Given the description of an element on the screen output the (x, y) to click on. 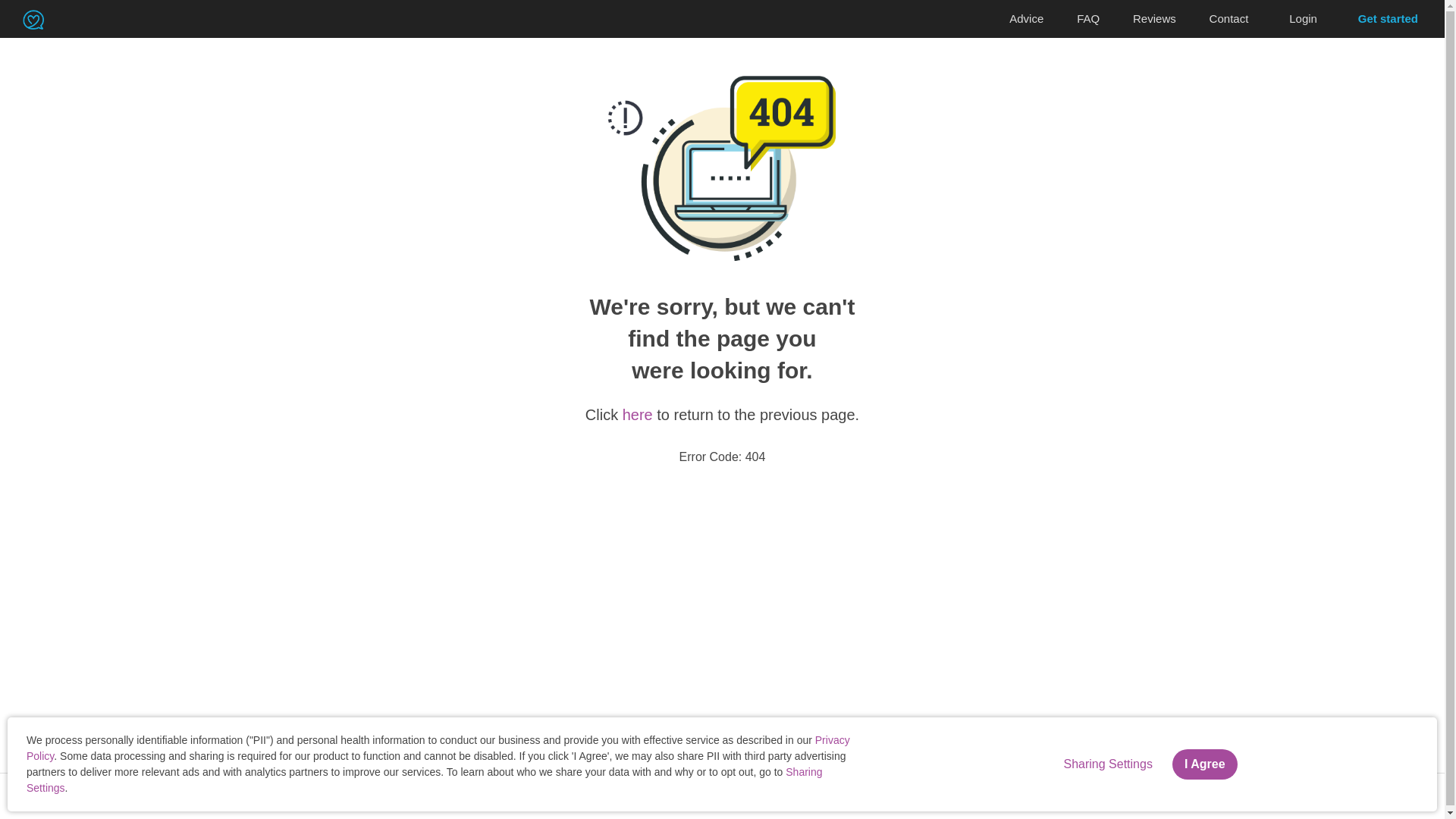
These resources (1303, 788)
Contact (1228, 19)
Sharing Settings (227, 797)
Sharing Settings (1107, 763)
FAQ (1088, 19)
Reviews (1154, 19)
Advice (1026, 19)
Get started (1387, 18)
here (637, 414)
Web Accessibility (316, 797)
I Agree (1204, 763)
Login (1303, 18)
Privacy Policy (438, 747)
Privacy Policy (146, 797)
Sharing Settings (424, 779)
